Given the description of an element on the screen output the (x, y) to click on. 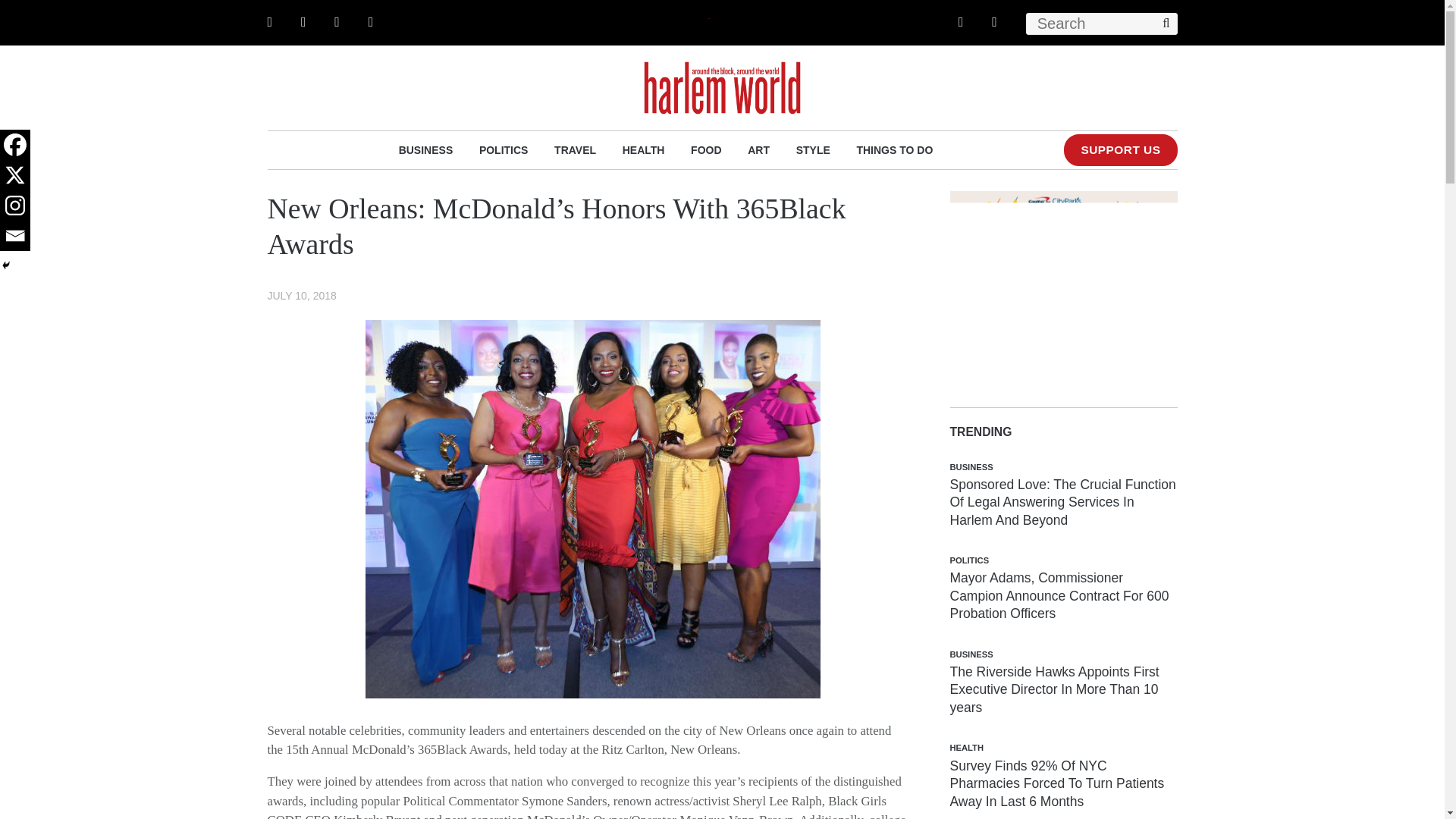
STYLE (812, 149)
POLITICS (503, 149)
Instagram (15, 205)
TRAVEL (574, 149)
Email (15, 235)
HEALTH (644, 149)
Hide (5, 265)
THINGS TO DO (894, 149)
X (15, 174)
SUPPORT US (1120, 150)
